Given the description of an element on the screen output the (x, y) to click on. 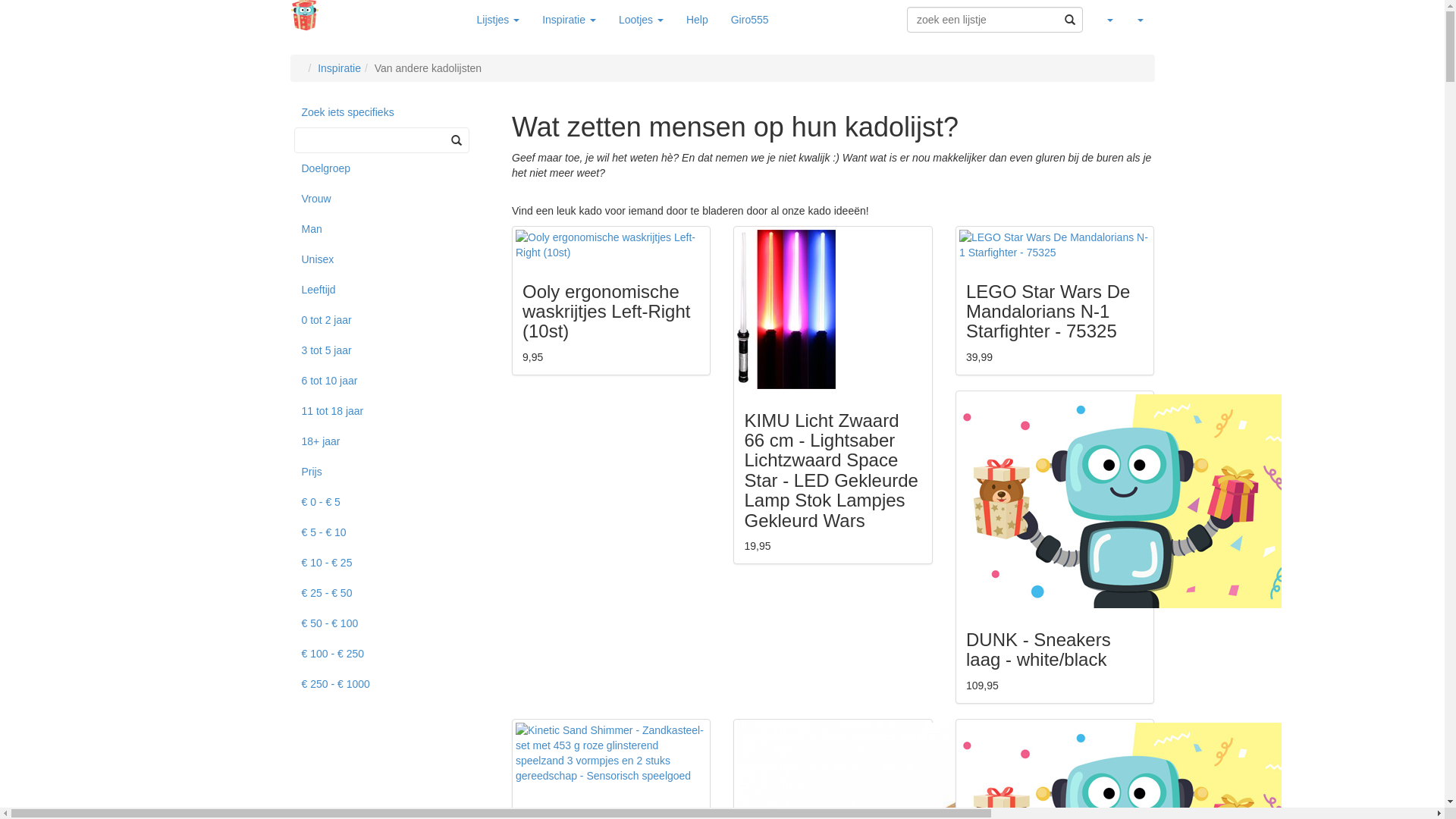
Lijstjes Element type: text (498, 19)
Ooly ergonomische waskrijtjes Left-Right (10st)
9,95 Element type: text (610, 300)
LEGO Star Wars De Mandalorians N-1 Starfighter - 75325
39,99 Element type: text (1054, 300)
Inspiratie Element type: text (338, 68)
Doelgroep Element type: text (389, 168)
Unisex Element type: text (389, 259)
Prijs Element type: text (389, 471)
Leeftijd Element type: text (389, 289)
Help Element type: text (696, 19)
Zoek iets specifieks Element type: text (389, 112)
0 tot 2 jaar Element type: text (389, 319)
Inspiratie Element type: text (568, 19)
18+ jaar Element type: text (389, 441)
Man Element type: text (389, 228)
Giro555 Element type: text (749, 19)
DUNK - Sneakers laag - white/black
109,95 Element type: text (1054, 546)
3 tot 5 jaar Element type: text (389, 350)
Lootjes Element type: text (640, 19)
6 tot 10 jaar Element type: text (389, 380)
Vrouw Element type: text (389, 198)
11 tot 18 jaar Element type: text (389, 410)
